Given the description of an element on the screen output the (x, y) to click on. 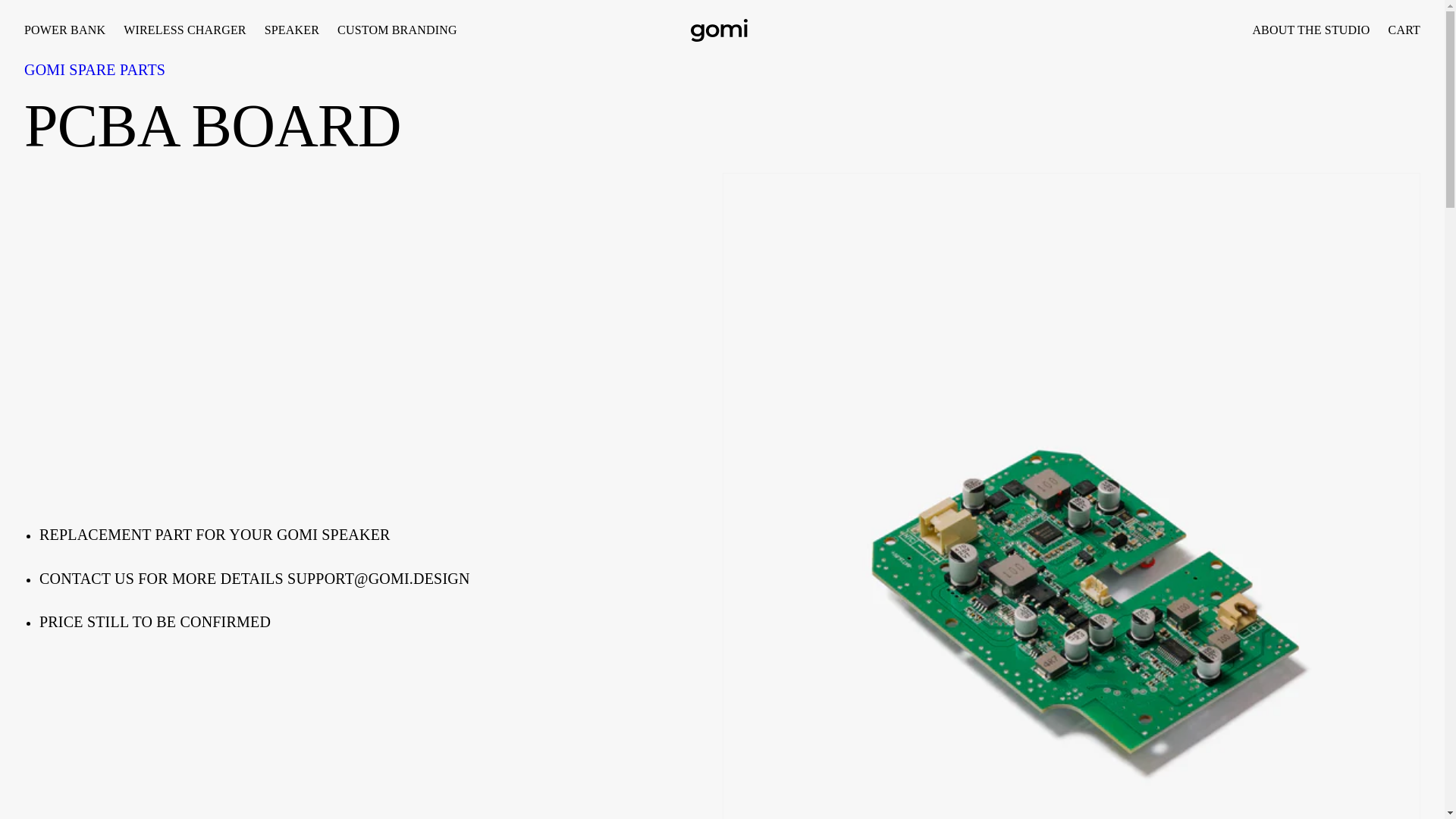
WIRELESS CHARGER (185, 30)
ABOUT THE STUDIO (1310, 30)
Skip to content (45, 17)
GOMI SPARE PARTS (94, 69)
CUSTOM BRANDING (397, 30)
SPEAKER (292, 30)
POWER BANK (1399, 30)
